Given the description of an element on the screen output the (x, y) to click on. 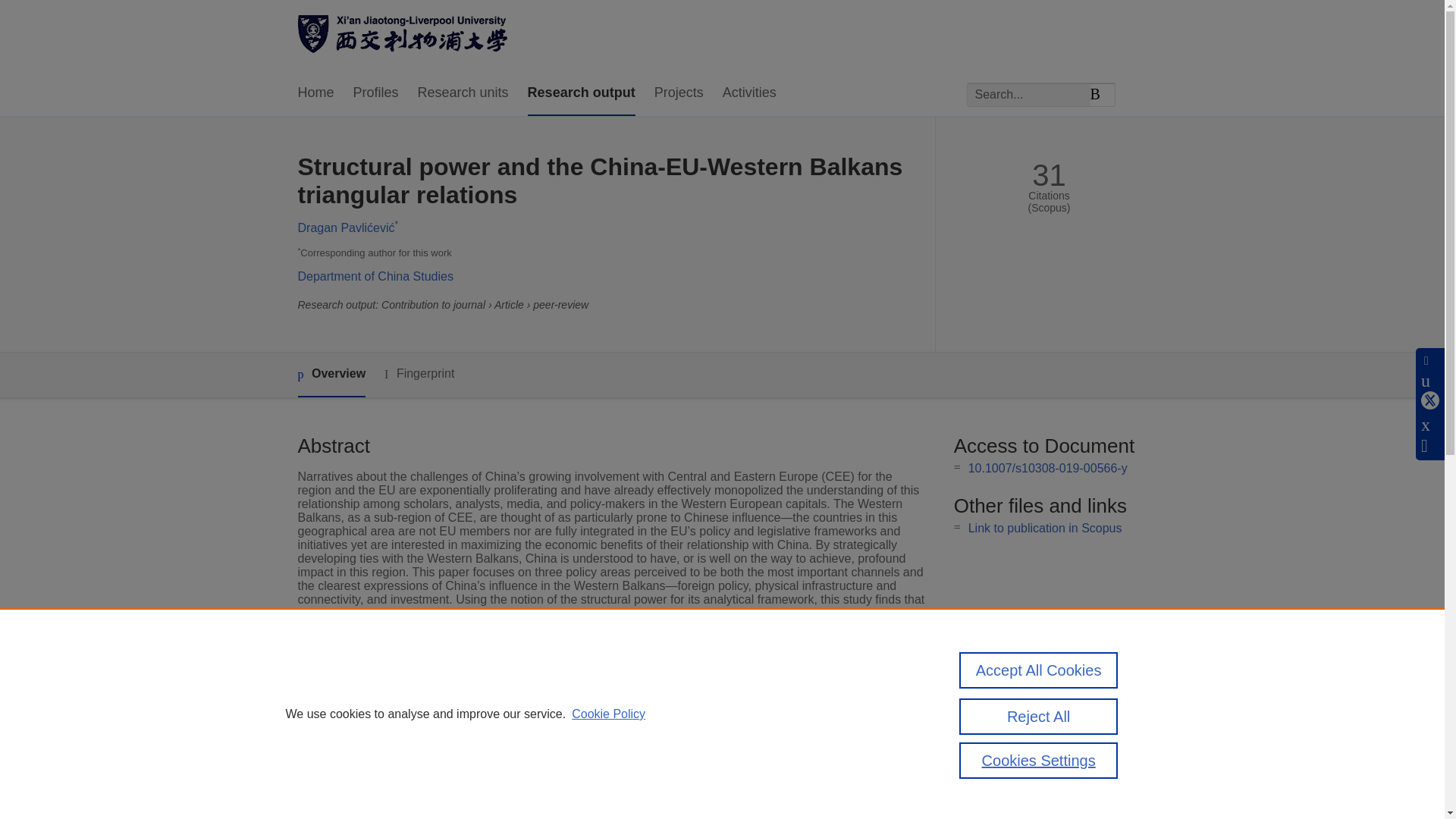
Department of China Studies (374, 276)
Projects (678, 93)
Home (315, 93)
Fingerprint (419, 373)
Activities (749, 93)
Xi'an Jiaotong-Liverpool University Home (401, 35)
Profiles (375, 93)
Asia Europe Journal (564, 744)
Overview (331, 374)
Research output (580, 93)
Research units (462, 93)
Link to publication in Scopus (1045, 527)
